Given the description of an element on the screen output the (x, y) to click on. 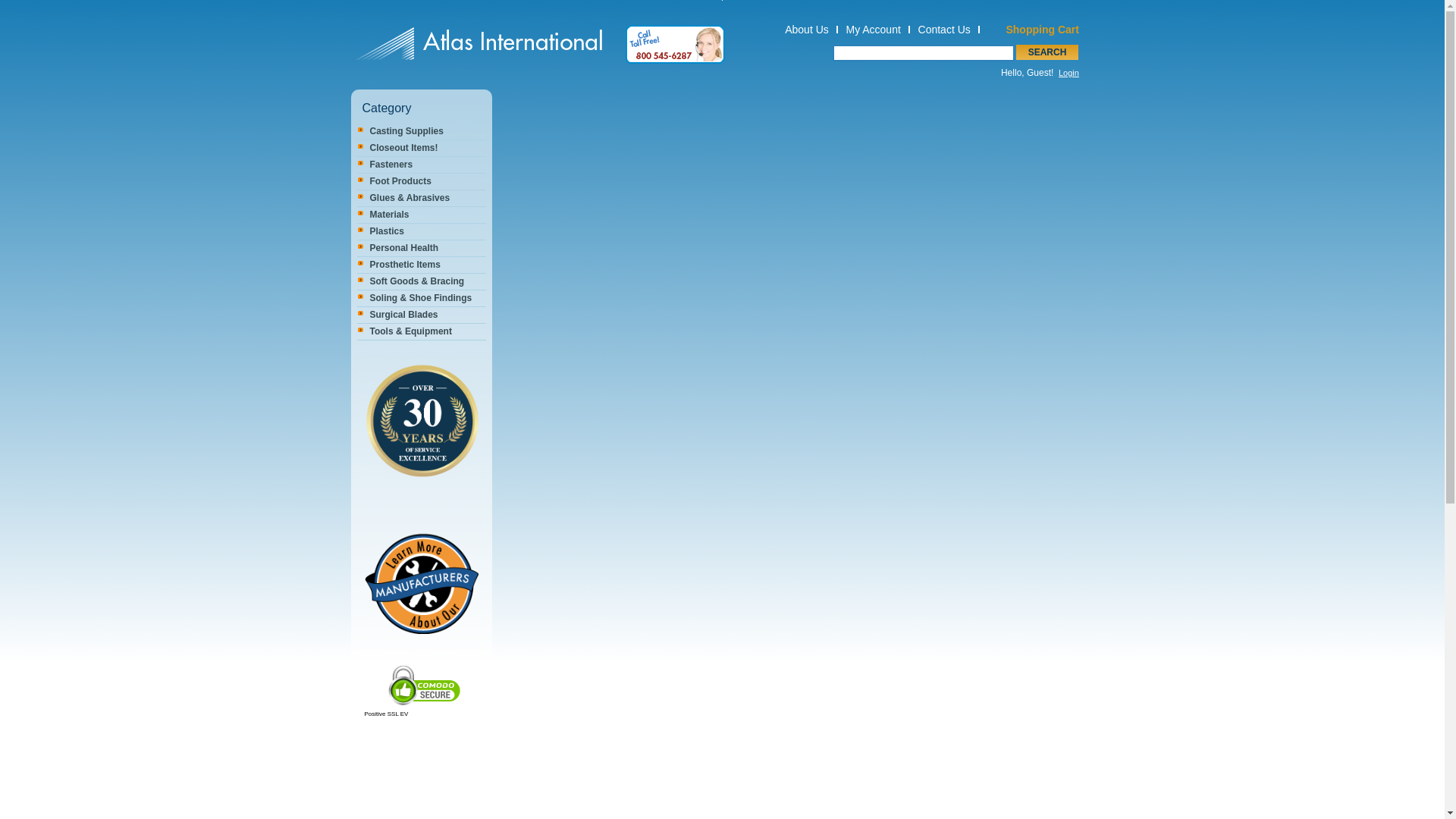
My Account (872, 29)
Closeout Items! (421, 148)
Materials (421, 214)
Contact Us (943, 29)
Plastics (421, 231)
Personal Health (421, 248)
Prosthetic Items (421, 264)
Positive SSL EV (421, 714)
Casting Supplies (421, 131)
Foot Products (421, 181)
